Given the description of an element on the screen output the (x, y) to click on. 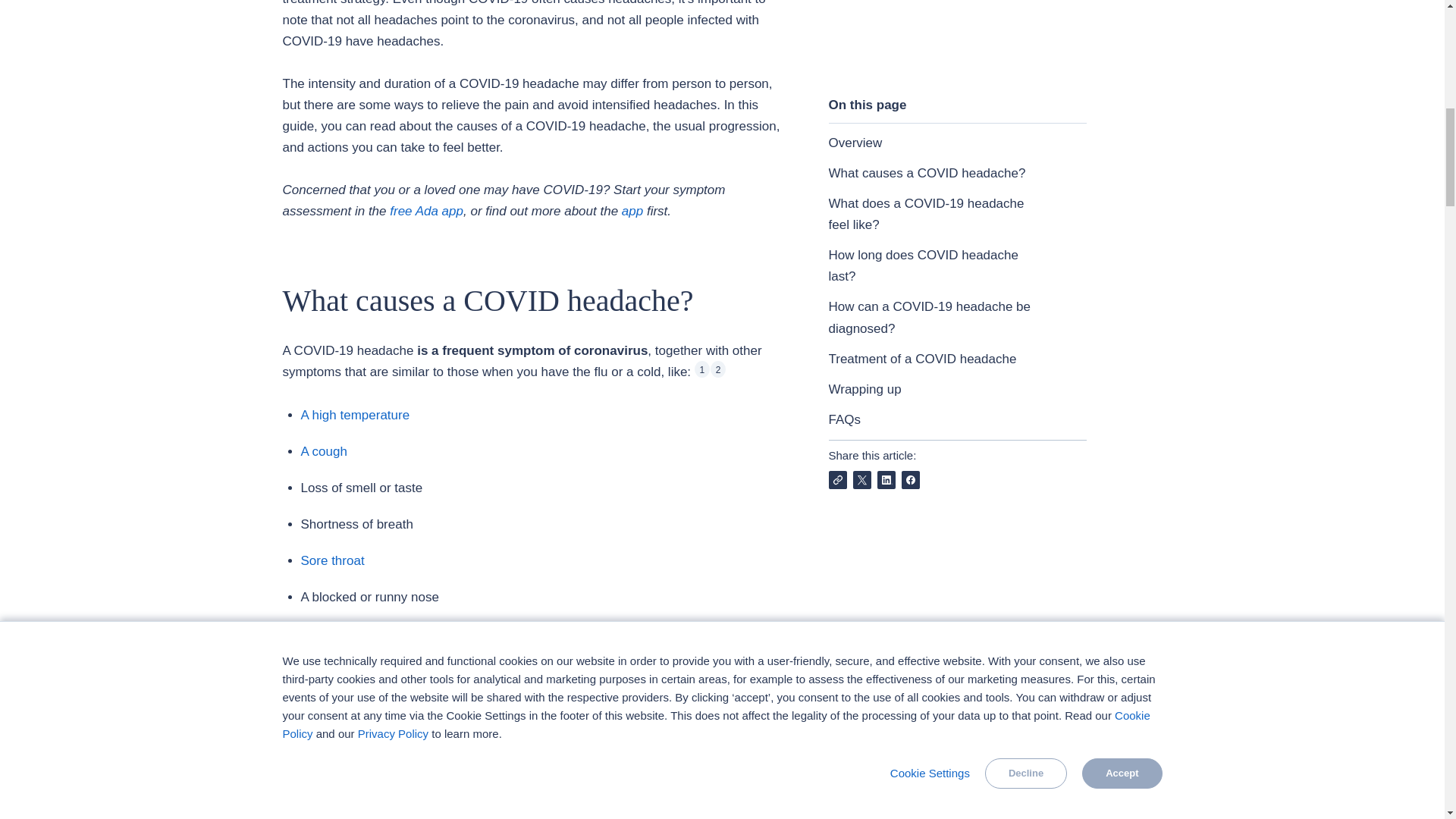
See Footnote 2 (717, 369)
See Footnote 3 (708, 767)
See Footnote 1 (702, 369)
